Given the description of an element on the screen output the (x, y) to click on. 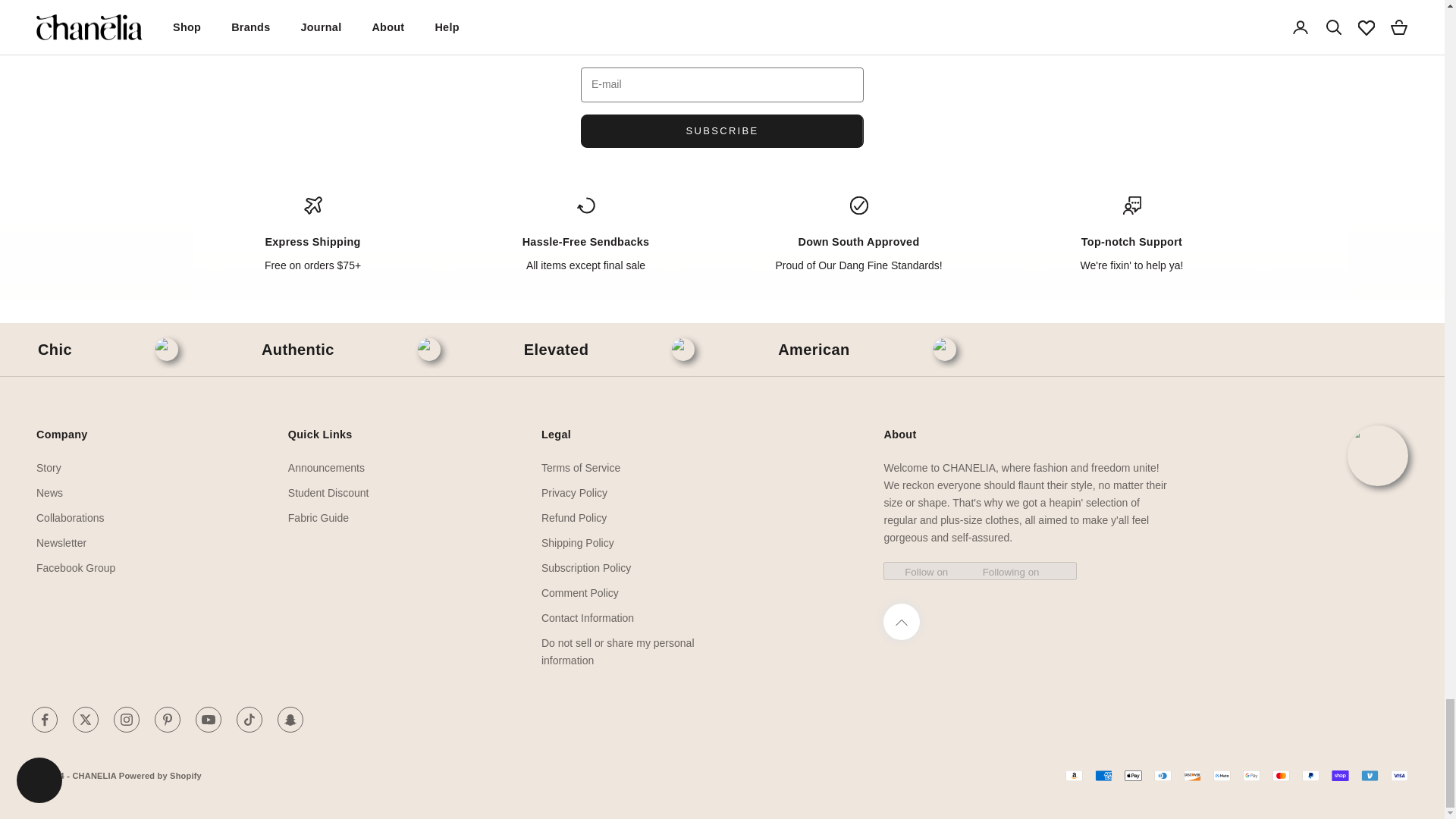
Authentic (298, 349)
American (812, 349)
Elevated (556, 349)
Chic (54, 349)
